Given the description of an element on the screen output the (x, y) to click on. 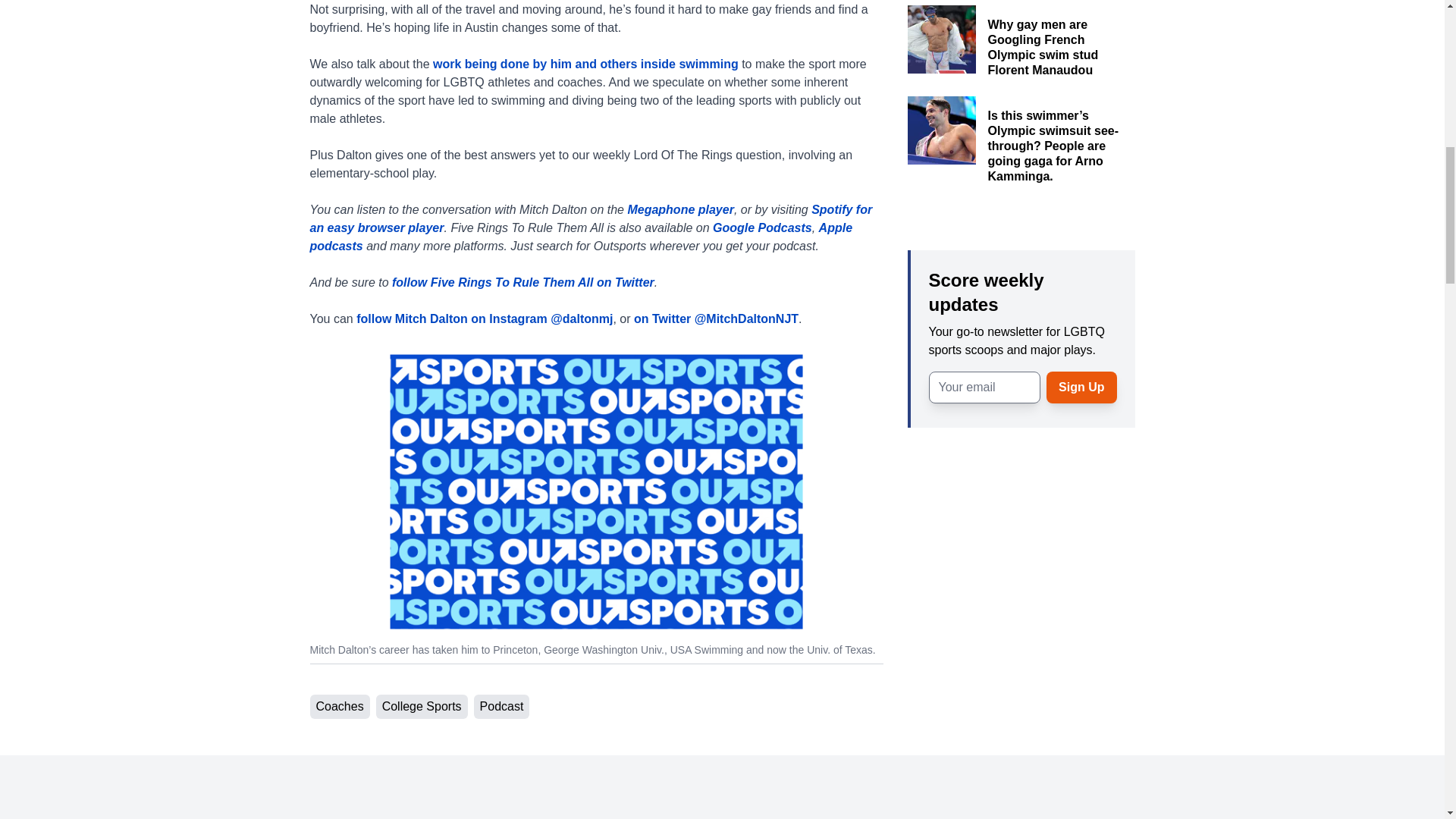
work being done by him and others inside swimming (585, 63)
College Sports (421, 706)
Podcast (501, 706)
Spotify for an easy browser player (590, 218)
Apple podcasts (579, 236)
Sign Up (1081, 387)
follow Five Rings To Rule Them All on Twitter (522, 282)
Megaphone player (680, 209)
Coaches (338, 706)
Google Podcasts (761, 227)
